Given the description of an element on the screen output the (x, y) to click on. 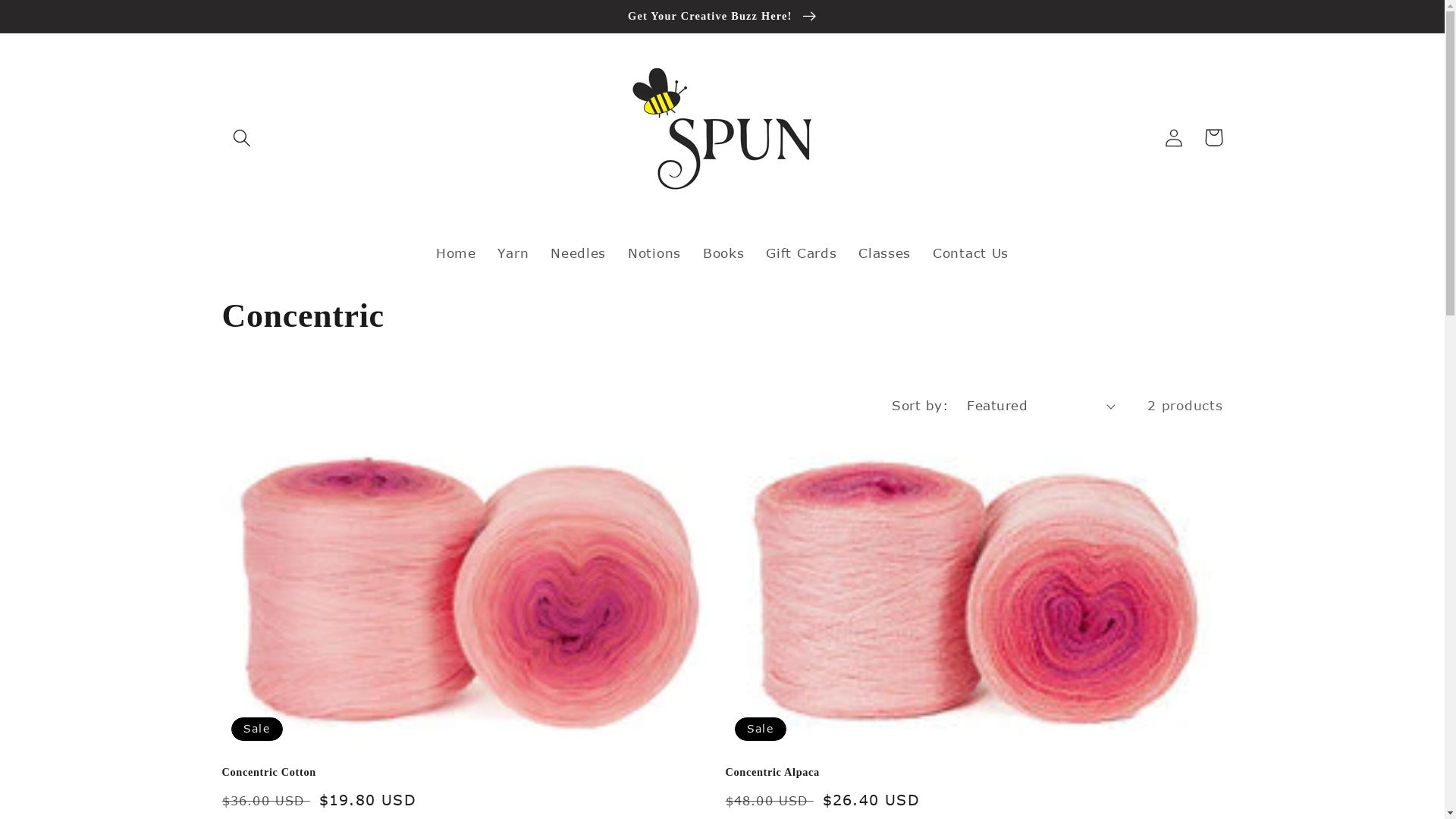
Concentric Cotton Element type: text (469, 772)
Needles Element type: text (578, 252)
Get Your Creative Buzz Here! Element type: text (722, 16)
Books Element type: text (722, 252)
Classes Element type: text (884, 252)
Yarn Element type: text (512, 252)
Contact Us Element type: text (970, 252)
Notions Element type: text (654, 252)
Concentric Alpaca Element type: text (973, 772)
Cart Element type: text (1213, 137)
Gift Cards Element type: text (801, 252)
Home Element type: text (455, 252)
Log in Element type: text (1173, 137)
